Given the description of an element on the screen output the (x, y) to click on. 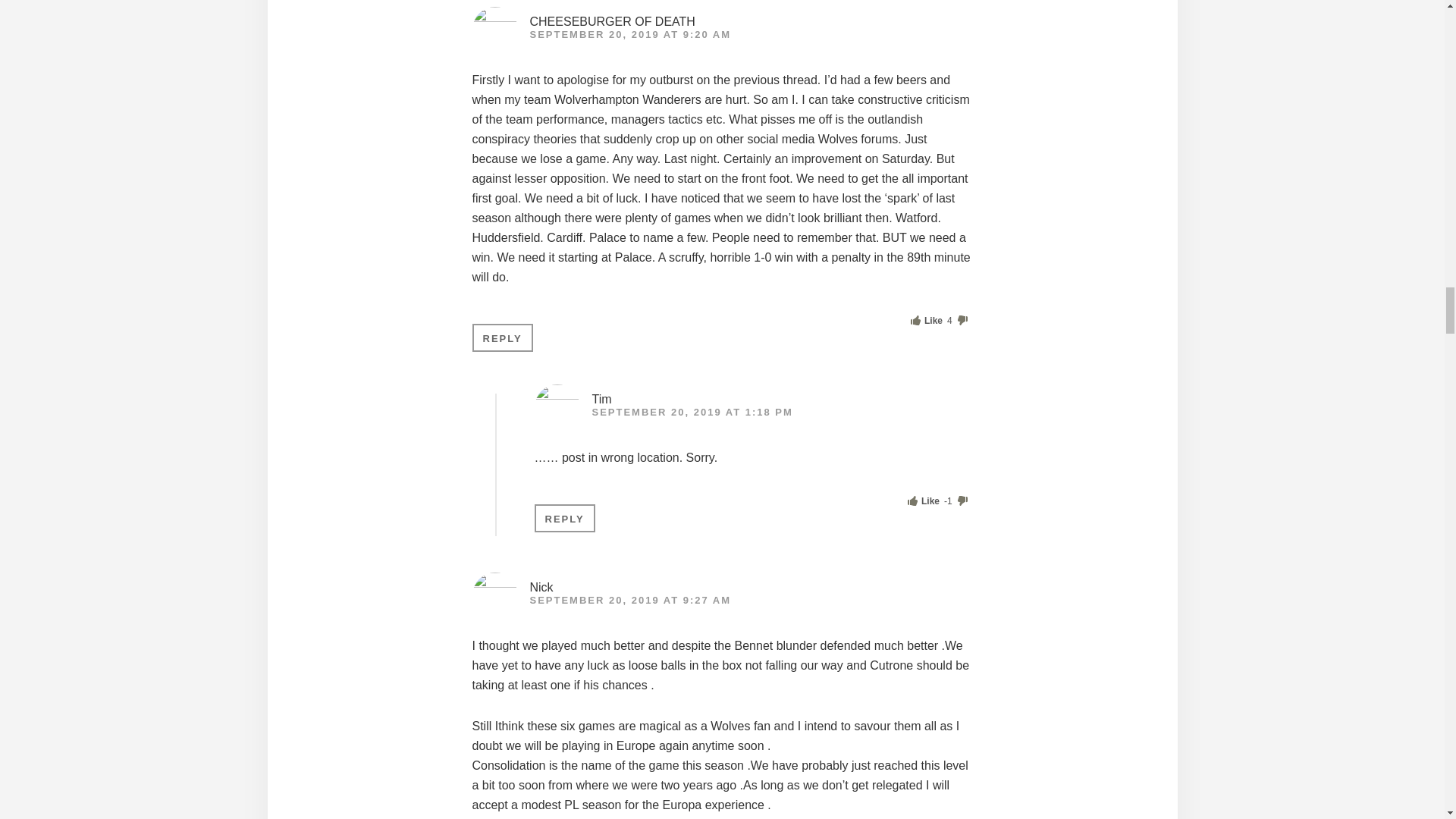
REPLY (501, 337)
SEPTEMBER 20, 2019 AT 9:27 AM (629, 600)
SEPTEMBER 20, 2019 AT 1:18 PM (691, 411)
REPLY (564, 518)
SEPTEMBER 20, 2019 AT 9:20 AM (629, 34)
